Given the description of an element on the screen output the (x, y) to click on. 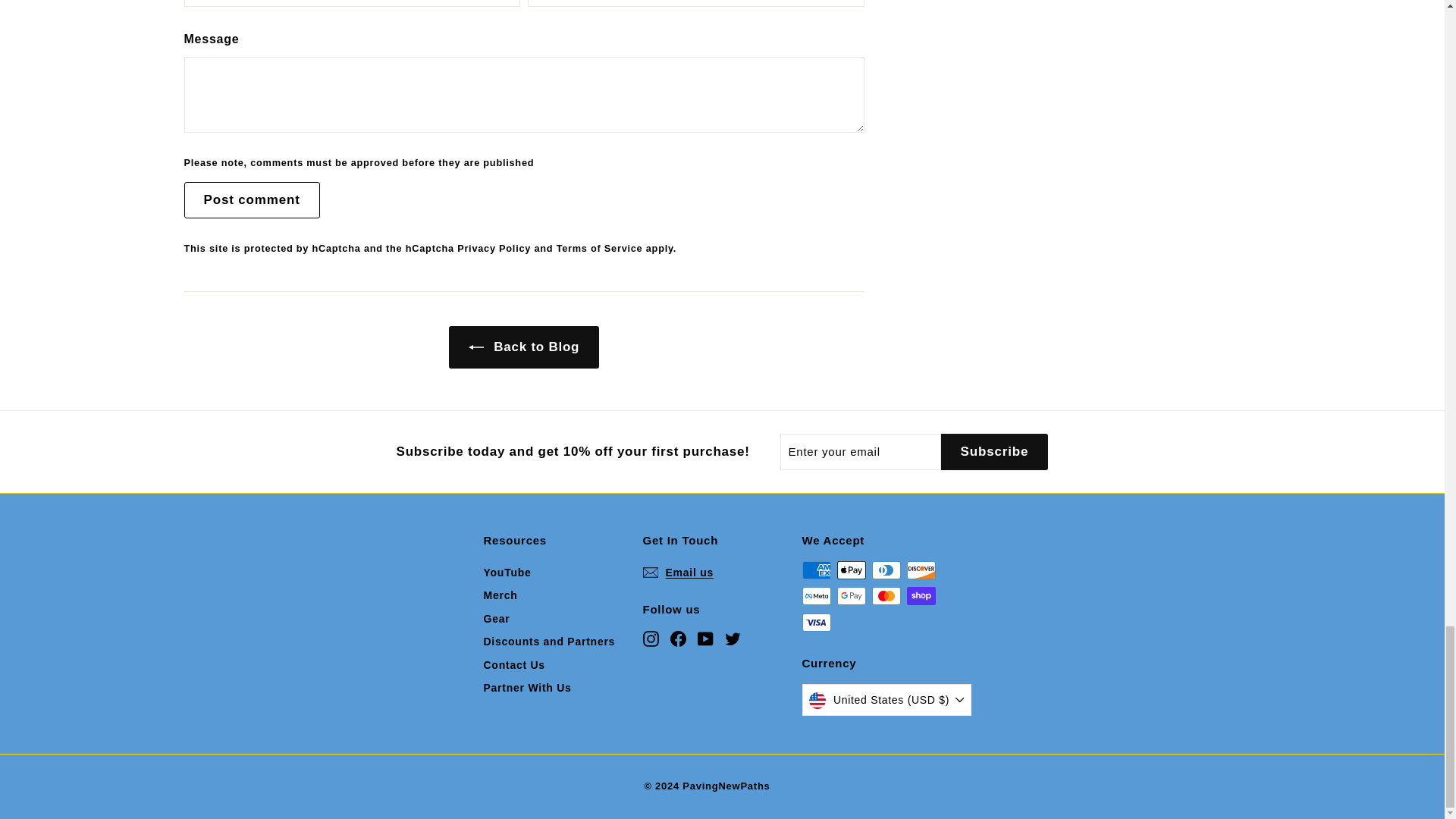
PavingNewPaths on YouTube (705, 638)
Diners Club (886, 570)
PavingNewPaths on Instagram (651, 638)
PavingNewPaths on Twitter (733, 638)
PavingNewPaths on Facebook (677, 638)
Discover (921, 570)
American Express (816, 570)
Apple Pay (851, 570)
